Given the description of an element on the screen output the (x, y) to click on. 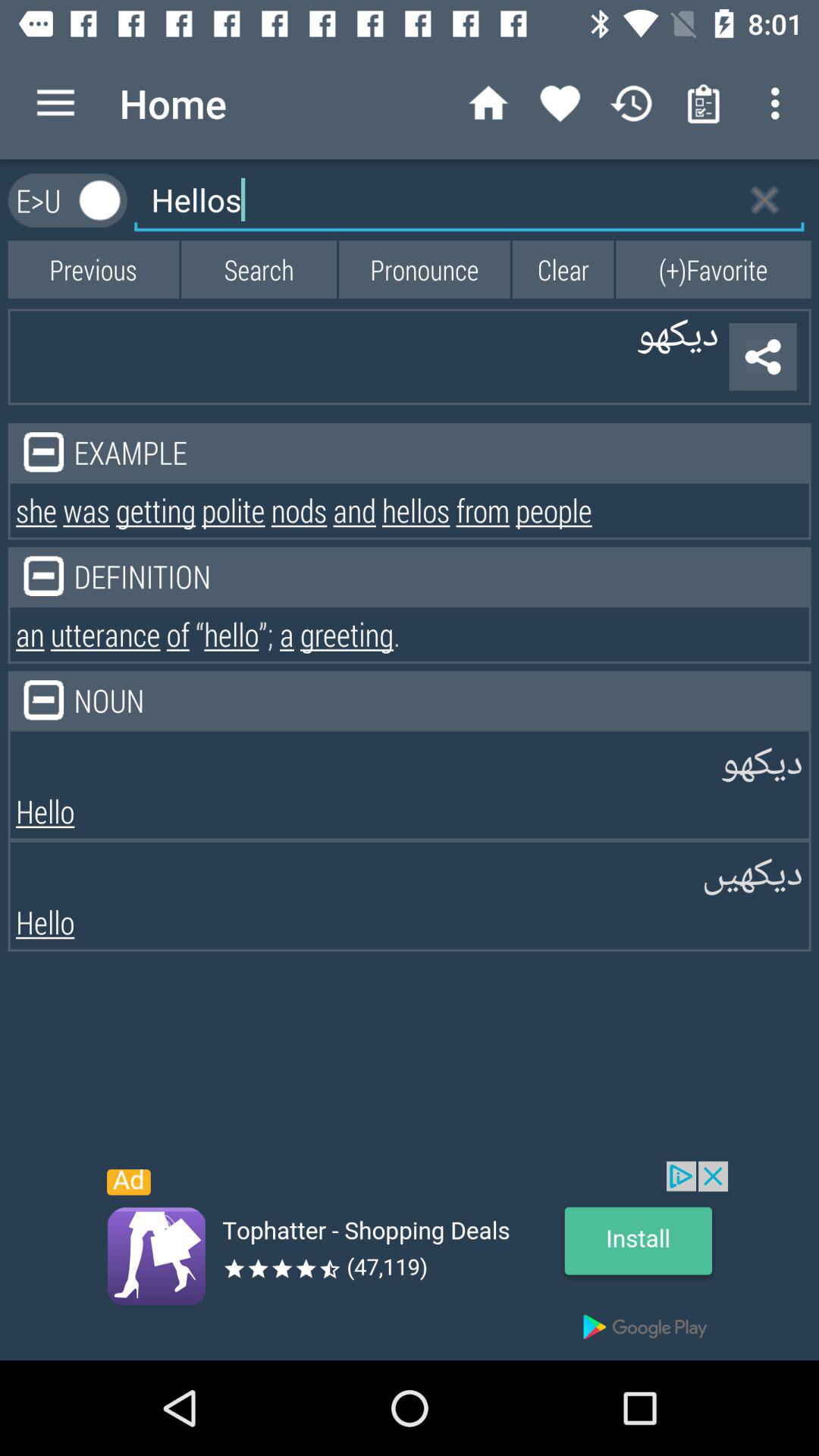
change translation direction (100, 200)
